Given the description of an element on the screen output the (x, y) to click on. 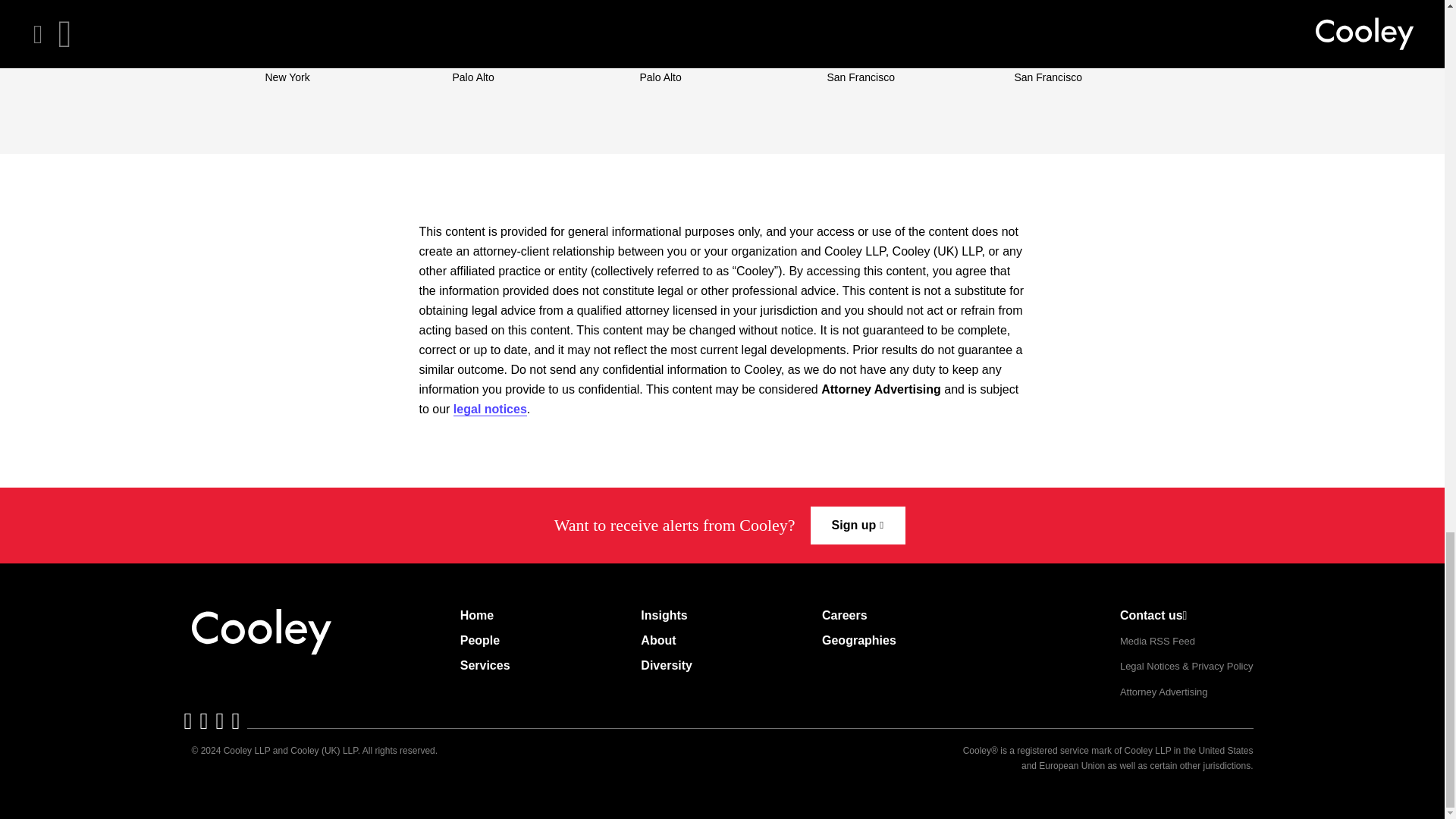
Mandy Kondo (500, 37)
Stuyvie Pyne (311, 37)
Brent Gage (680, 37)
